Given the description of an element on the screen output the (x, y) to click on. 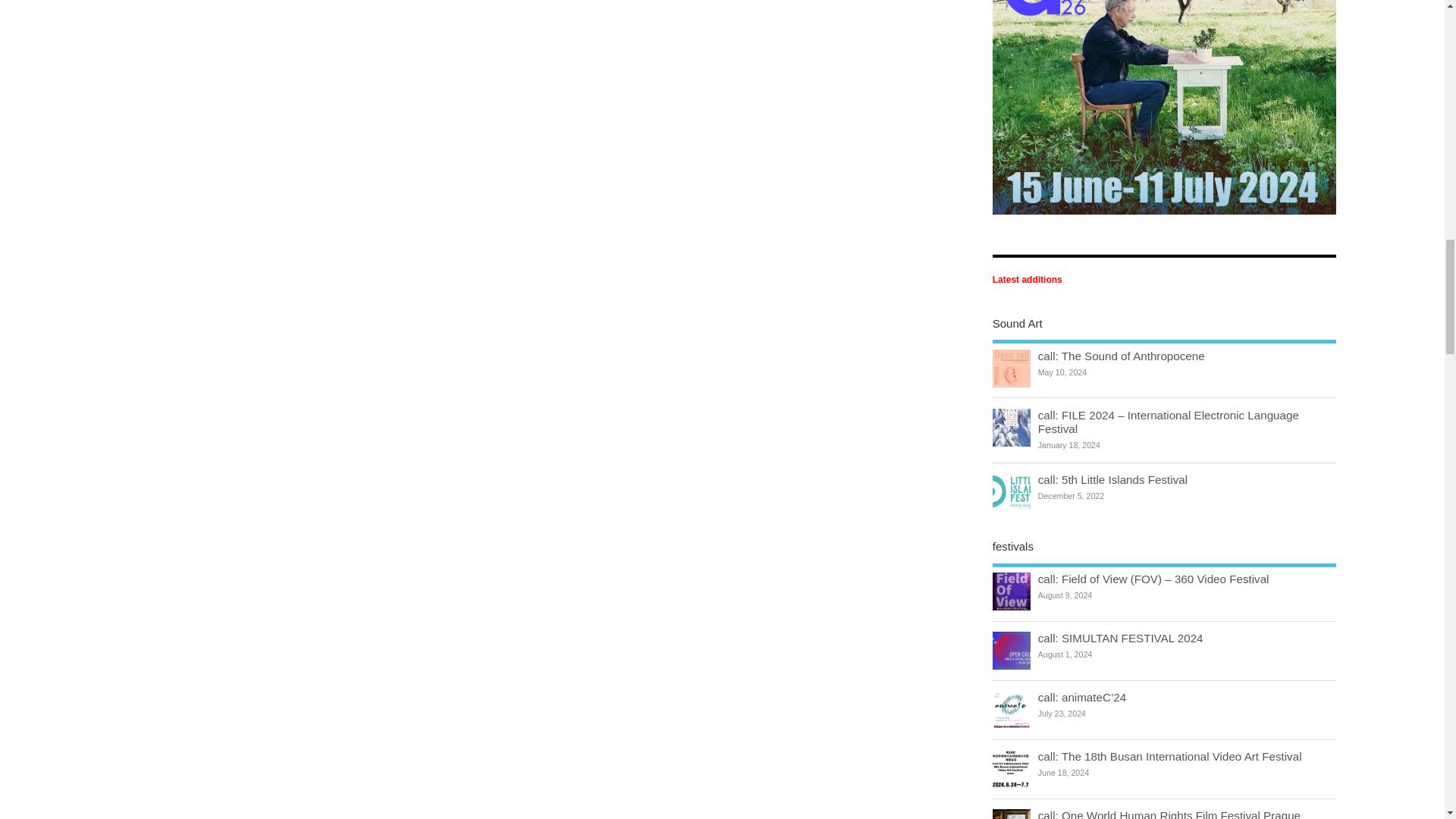
call: SIMULTAN FESTIVAL 2024 (1121, 637)
call: 5th Little Islands Festival (1113, 479)
call: The Sound of Anthropocene (1011, 368)
call: The Sound of Anthropocene (1121, 355)
call: 5th Little Islands Festival (1113, 479)
call: 5th Little Islands Festival (1011, 492)
call: The Sound of Anthropocene (1121, 355)
